Given the description of an element on the screen output the (x, y) to click on. 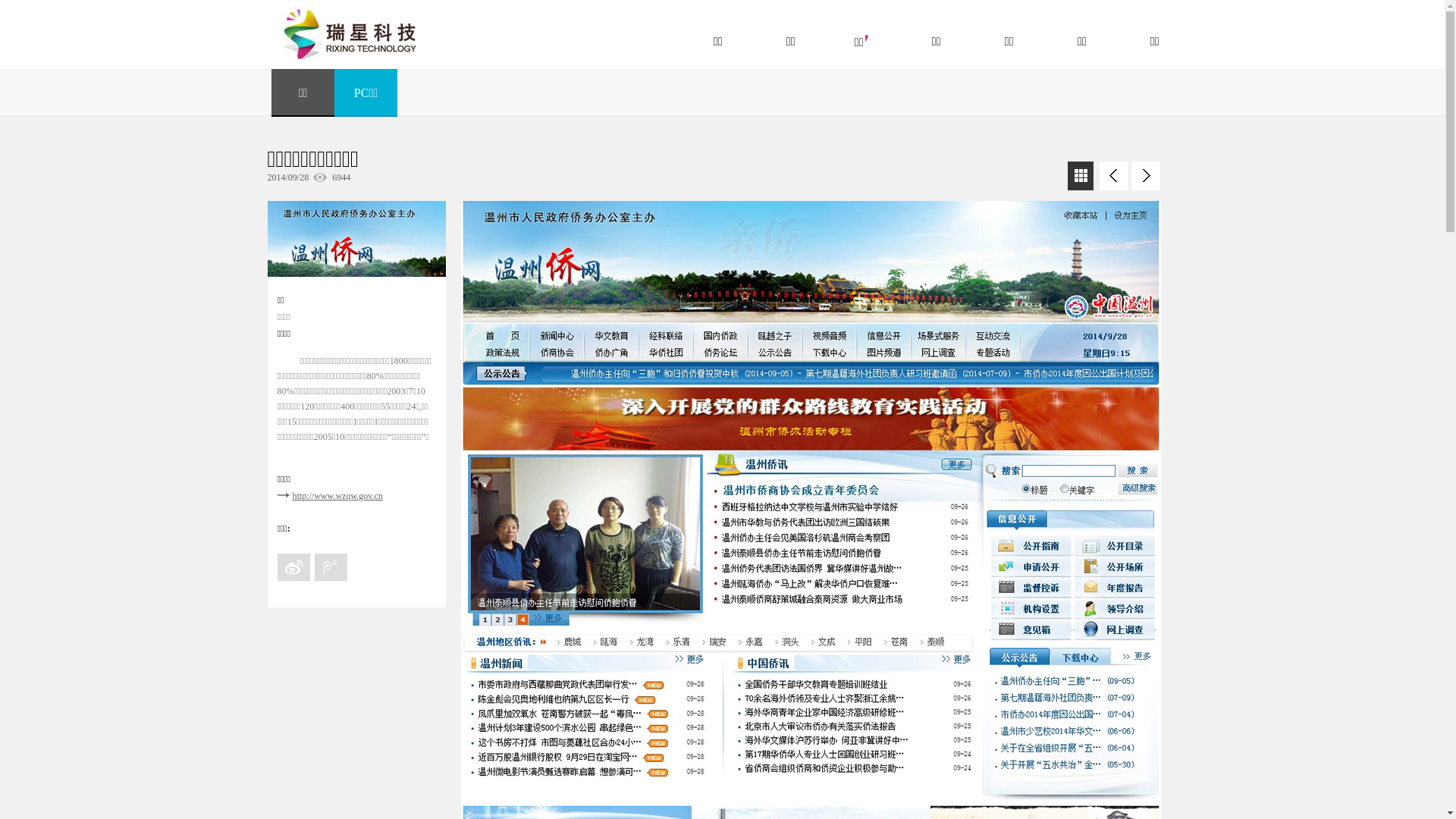
http://www.wzqw.gov.cn Element type: text (337, 495)
